Given the description of an element on the screen output the (x, y) to click on. 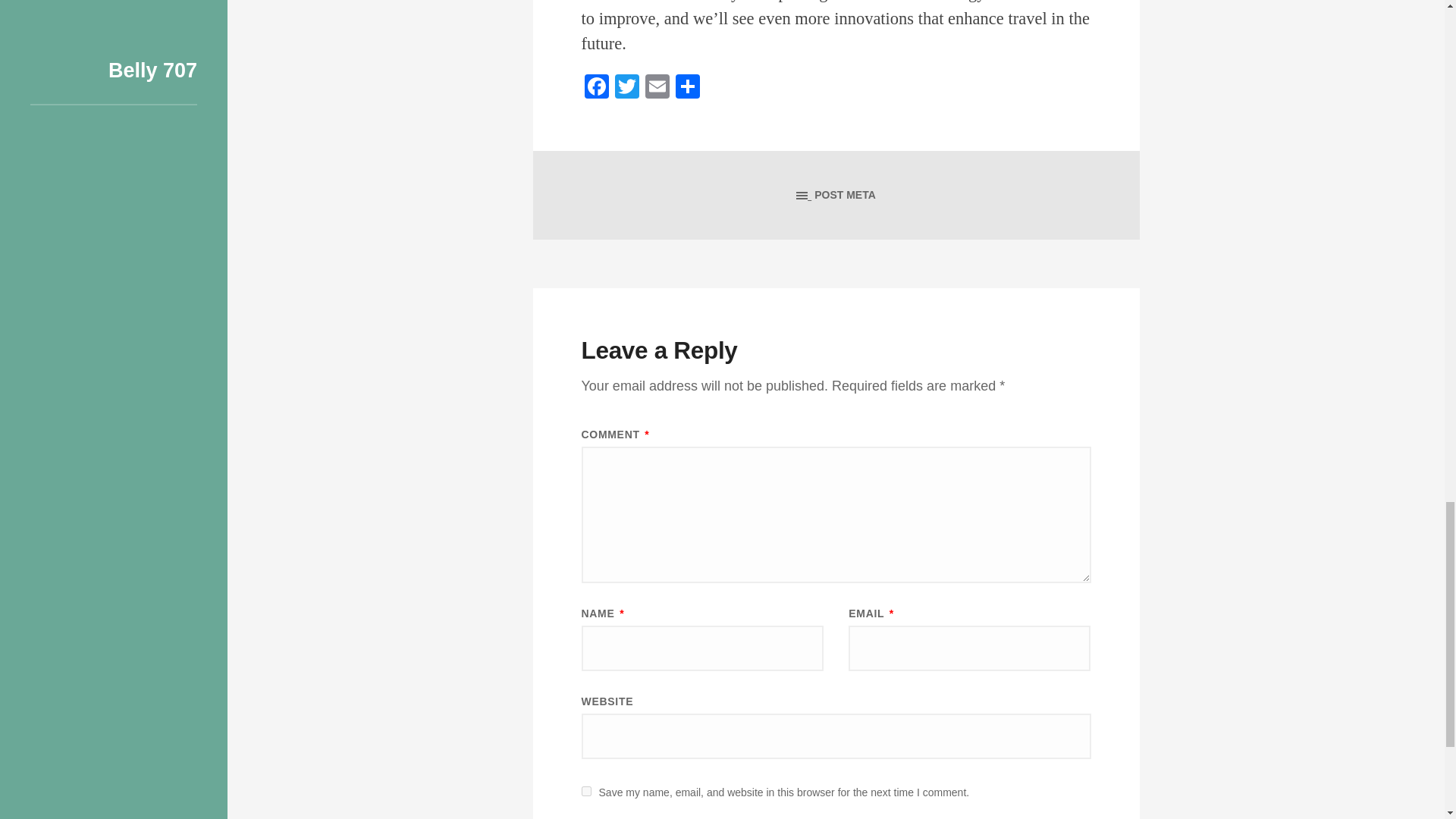
Twitter (626, 88)
POST META (835, 194)
yes (585, 791)
Facebook (595, 88)
Email (656, 88)
Facebook (595, 88)
Email (656, 88)
Share (686, 88)
Twitter (626, 88)
